Given the description of an element on the screen output the (x, y) to click on. 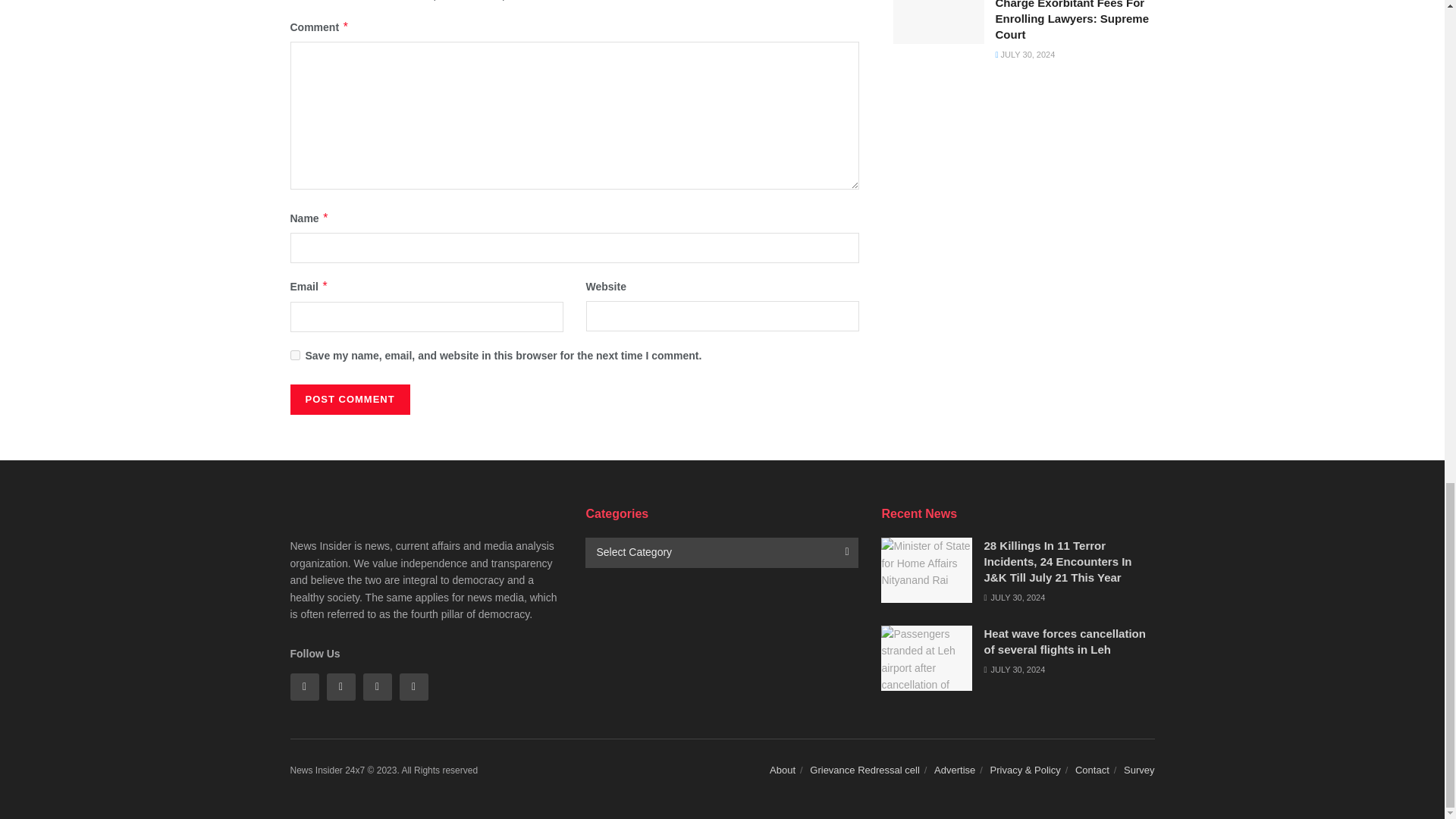
yes (294, 355)
Post Comment (349, 399)
